Given the description of an element on the screen output the (x, y) to click on. 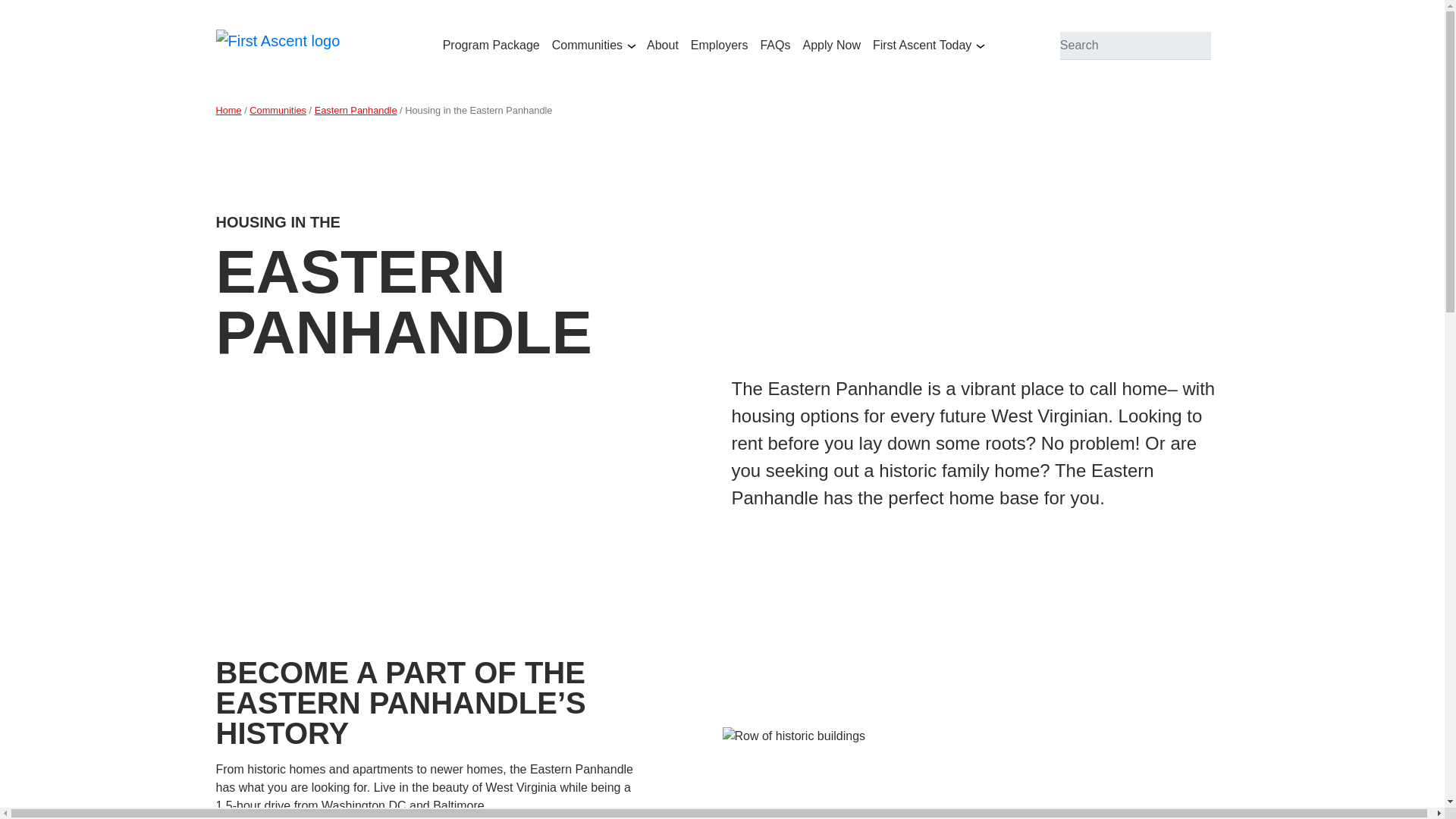
Communities (584, 45)
Home (228, 110)
Eastern Panhandle (355, 110)
Employers (719, 45)
First Ascent West Virginia (277, 45)
FAQs (775, 45)
About (662, 45)
Communities (276, 110)
Program Package (491, 45)
First Ascent Today (918, 45)
Apply Now (831, 45)
